Given the description of an element on the screen output the (x, y) to click on. 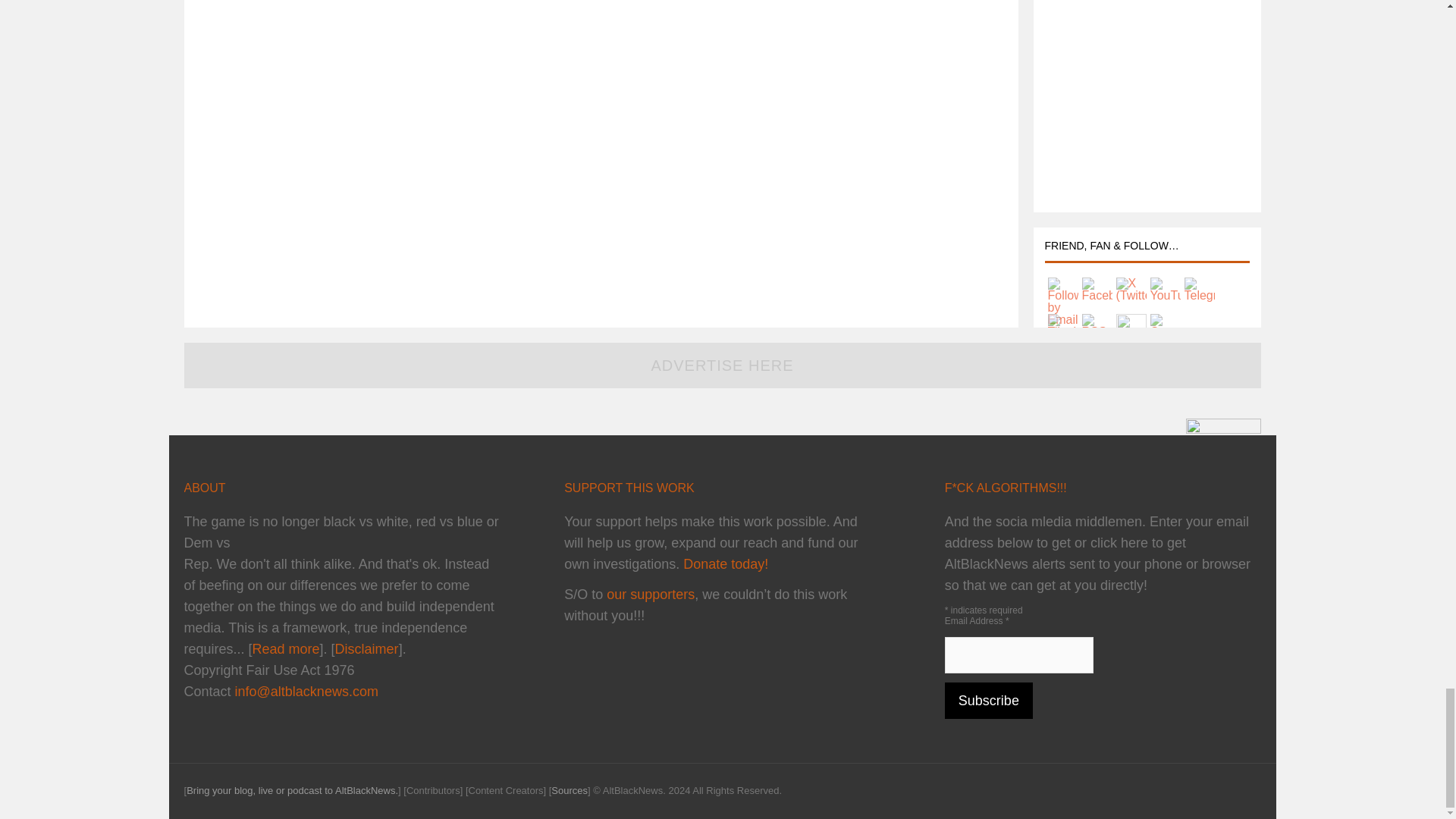
Subscribe (988, 700)
